Given the description of an element on the screen output the (x, y) to click on. 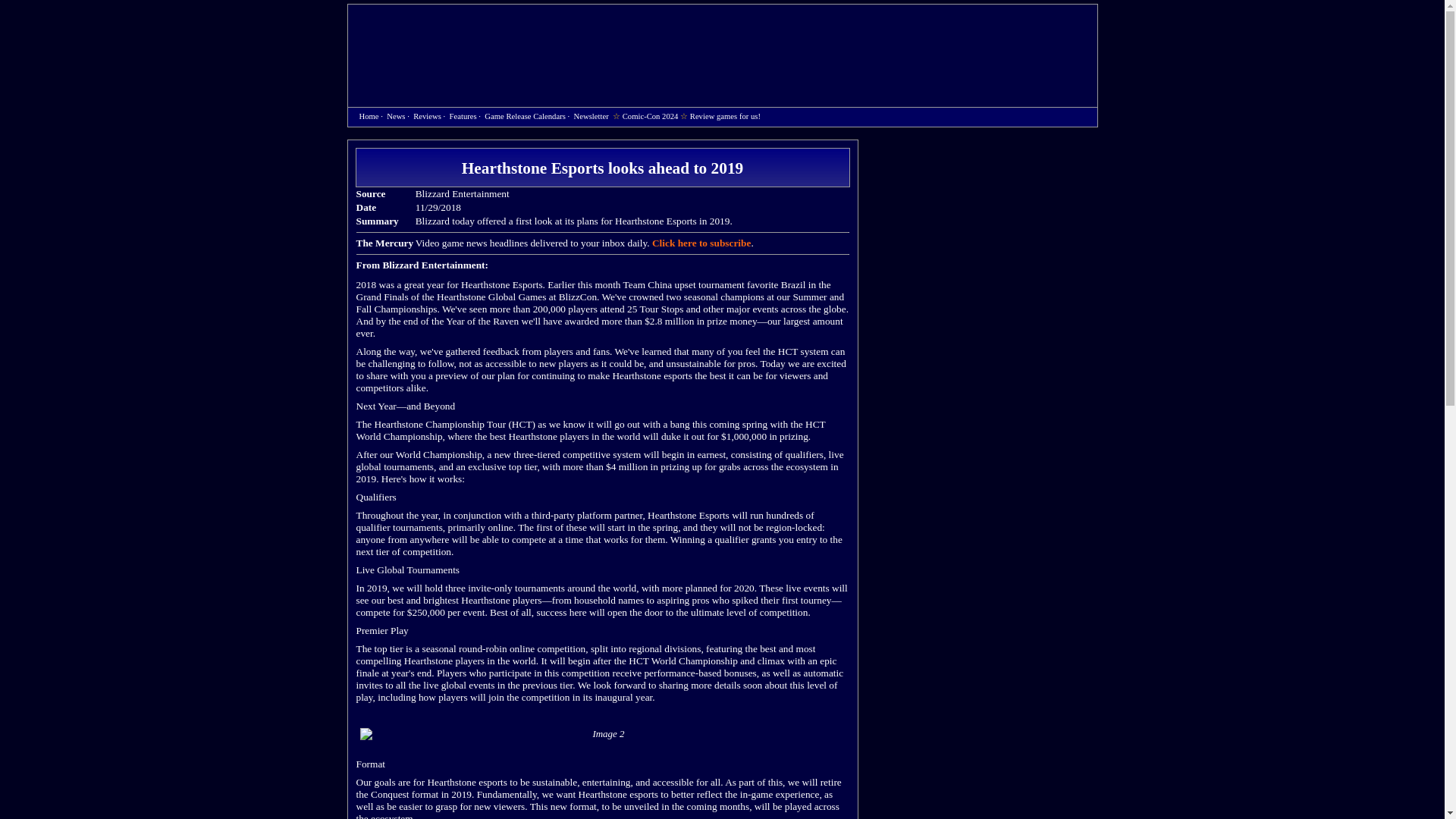
Game Release Calendars (525, 116)
Home (368, 116)
Newsletter (590, 116)
Home (433, 39)
Review games for us! (725, 116)
Comic-Con 2024 (650, 116)
News (395, 116)
Click here to subscribe (701, 242)
Features (463, 116)
Reviews (427, 116)
